Given the description of an element on the screen output the (x, y) to click on. 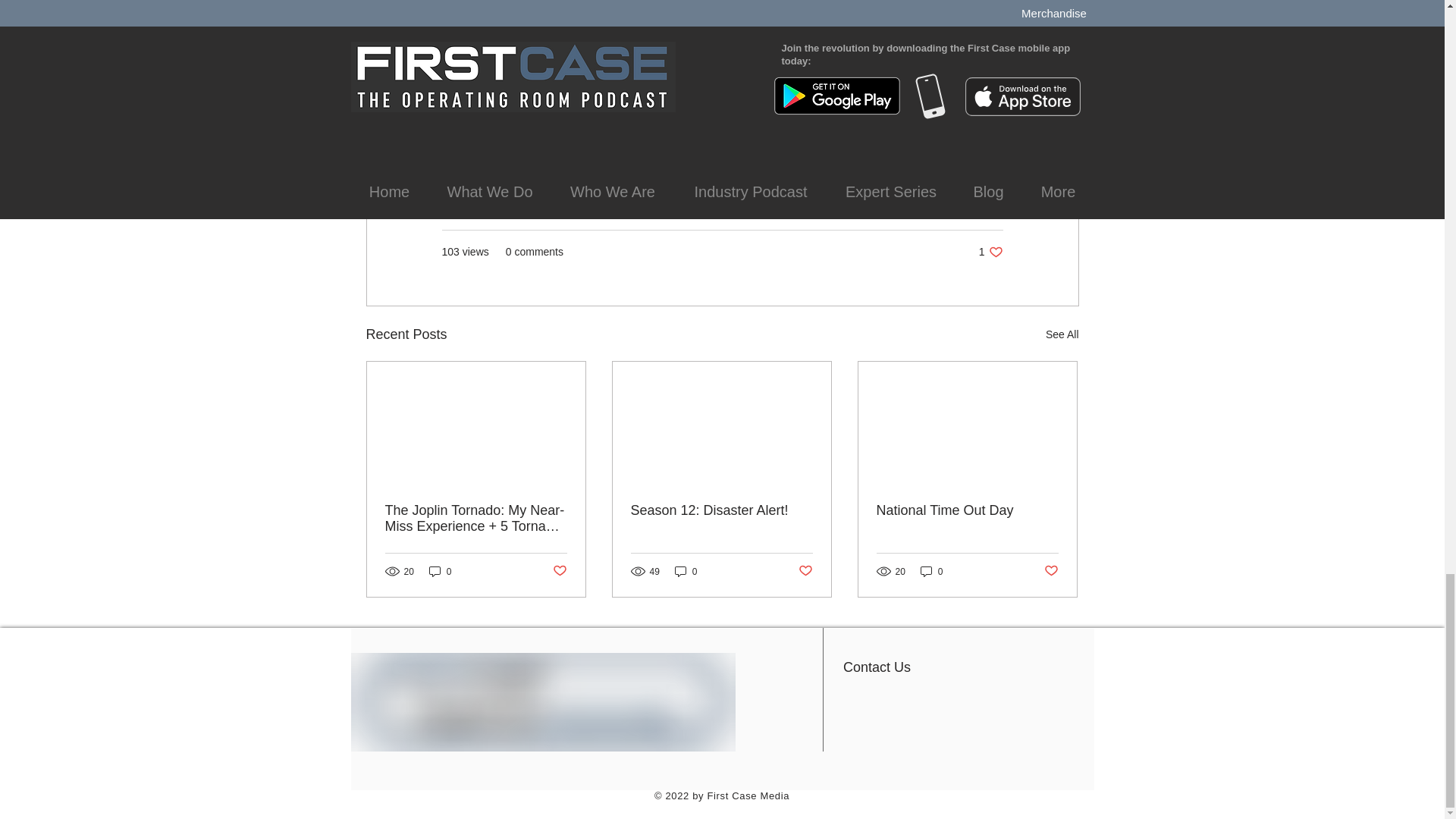
Scrub Tech (644, 149)
Operating Room (889, 205)
See All (1061, 334)
Surgery (990, 251)
Operating Room (573, 149)
Appreciation (489, 149)
